Given the description of an element on the screen output the (x, y) to click on. 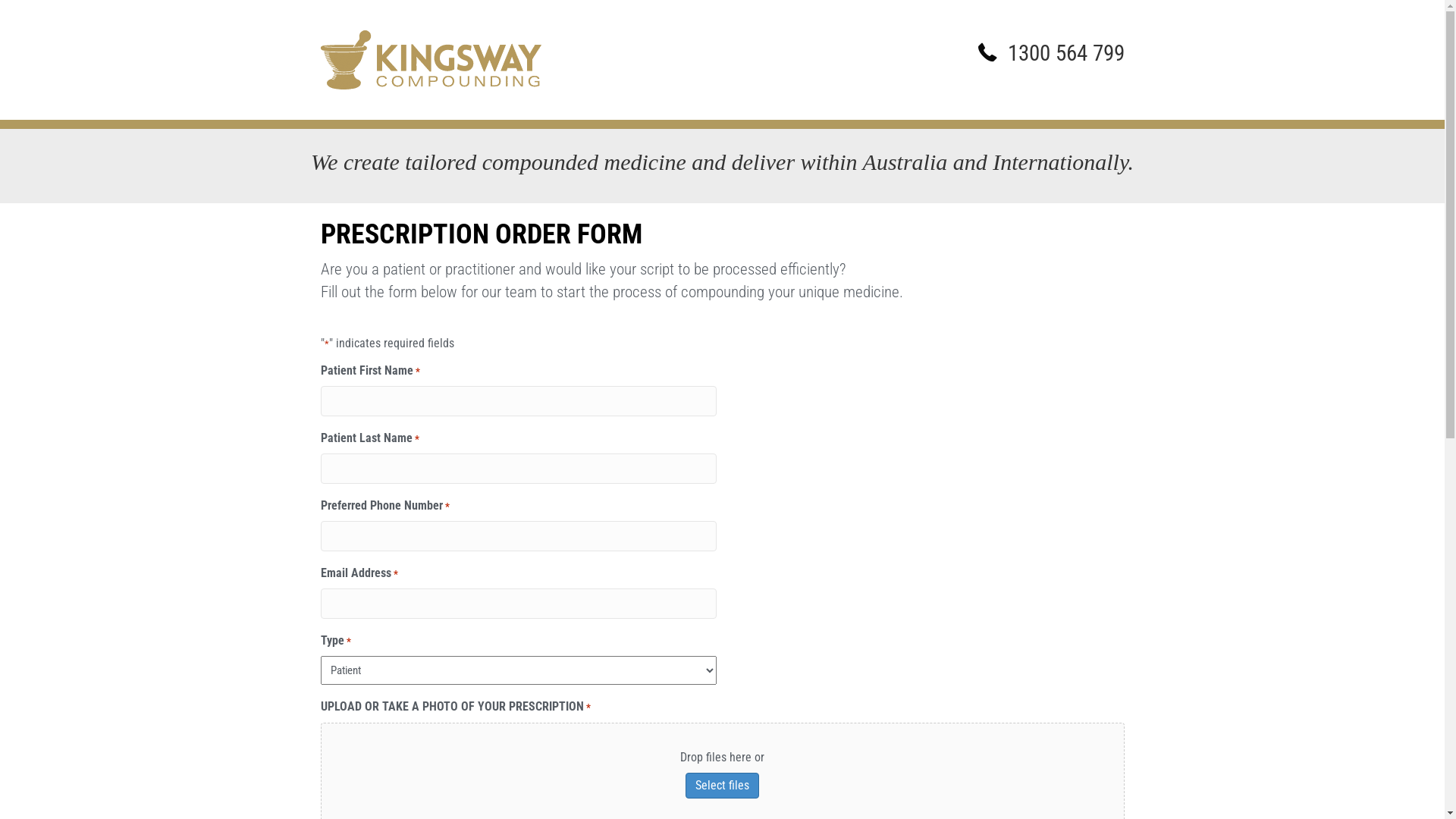
1300 564 799 Element type: text (1065, 52)
logo Element type: hover (430, 59)
Select files Element type: text (722, 784)
